Given the description of an element on the screen output the (x, y) to click on. 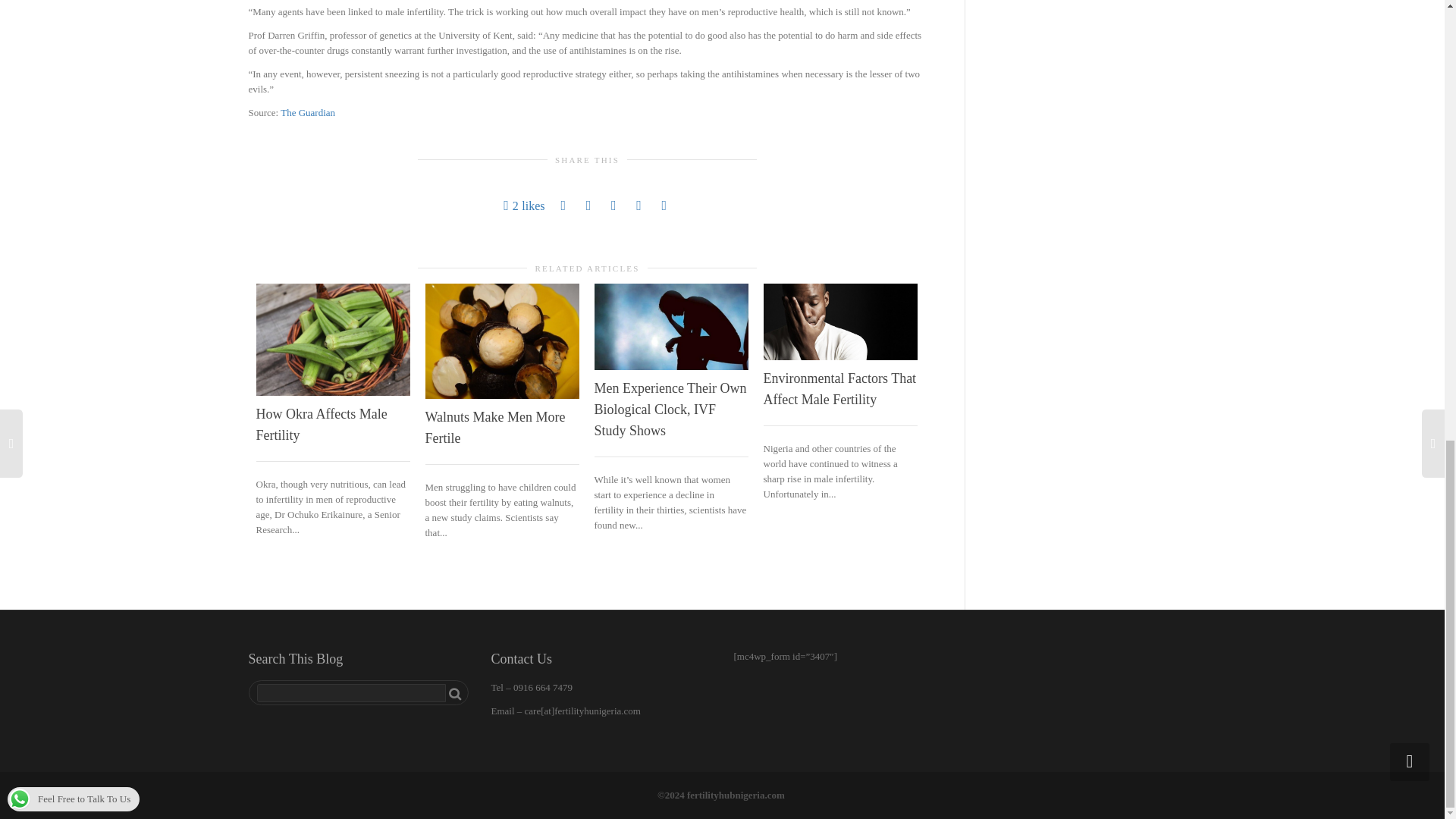
2 likes (523, 205)
The Guardian (307, 112)
Men Experience Their Own Biological Clock, IVF Study Shows (670, 409)
Search (454, 693)
How Okra Affects Male Fertility (321, 424)
Search (454, 693)
Walnuts Make Men More Fertile (494, 427)
